Given the description of an element on the screen output the (x, y) to click on. 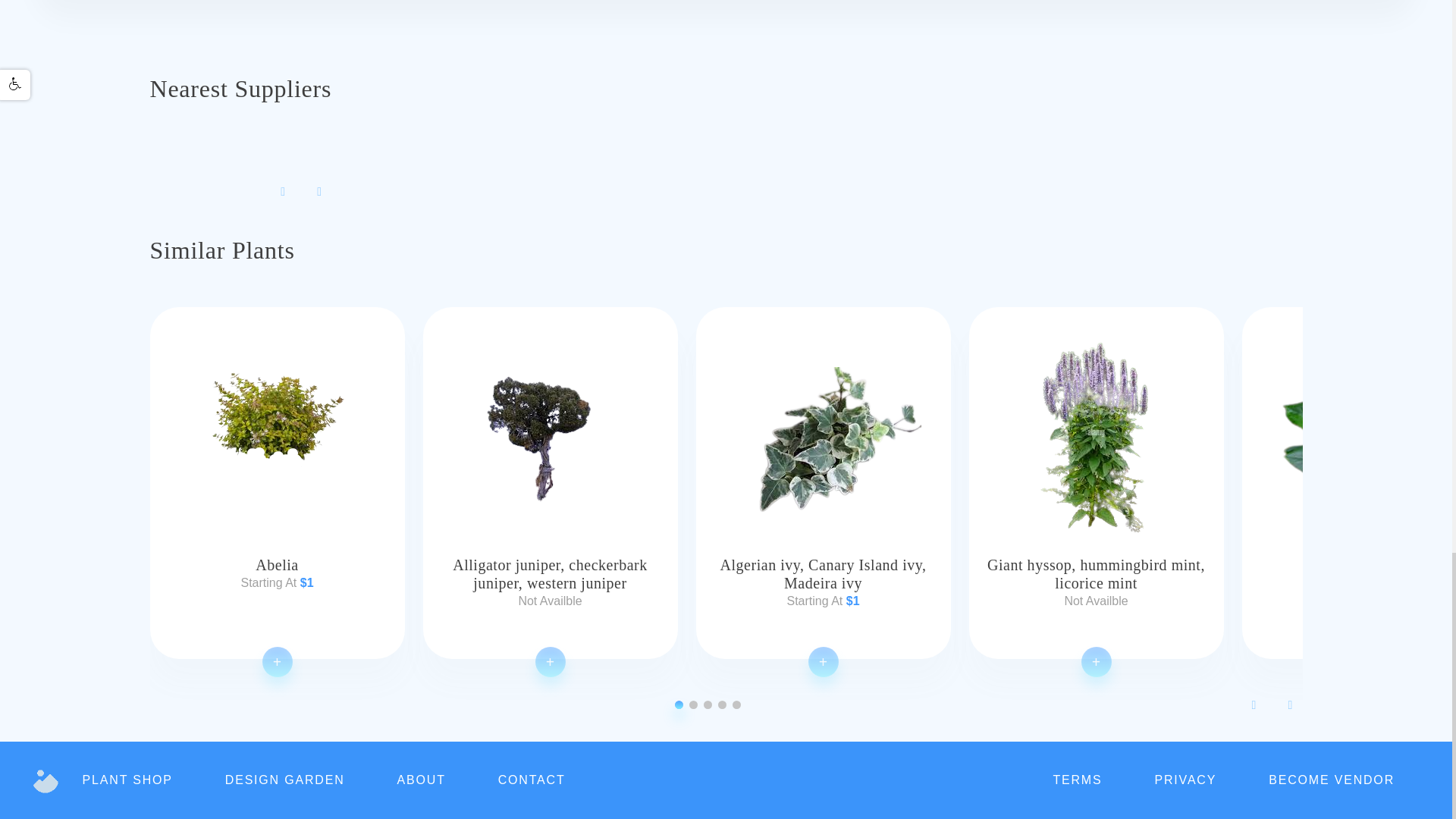
CONTACT (531, 779)
PRIVACY (1184, 779)
TERMS (1077, 779)
DESIGN GARDEN (285, 779)
PLANT SHOP (127, 779)
BECOME VENDOR (1331, 779)
ABOUT (421, 779)
